Given the description of an element on the screen output the (x, y) to click on. 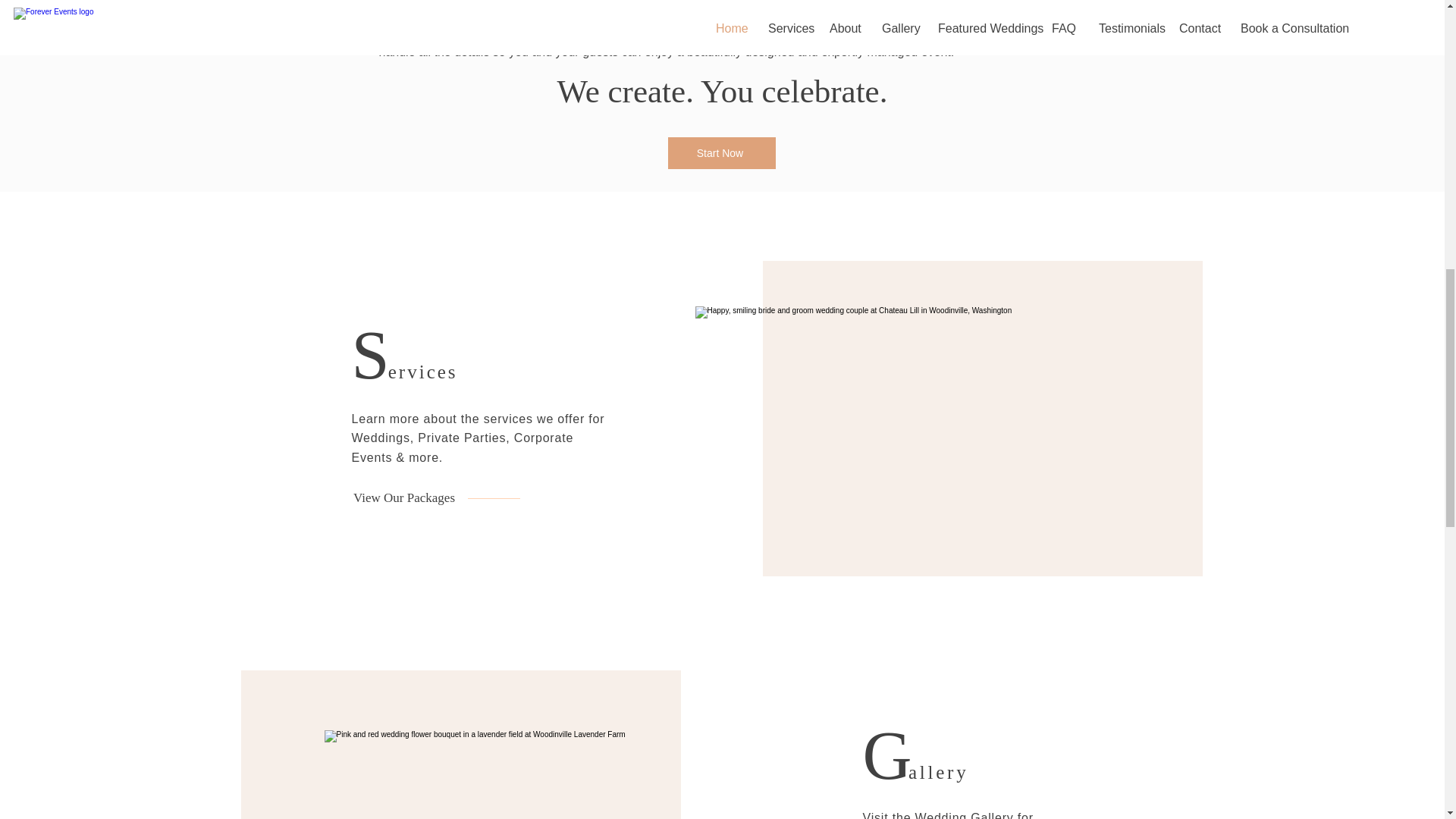
View Our Packages (403, 497)
Start Now (720, 152)
